Given the description of an element on the screen output the (x, y) to click on. 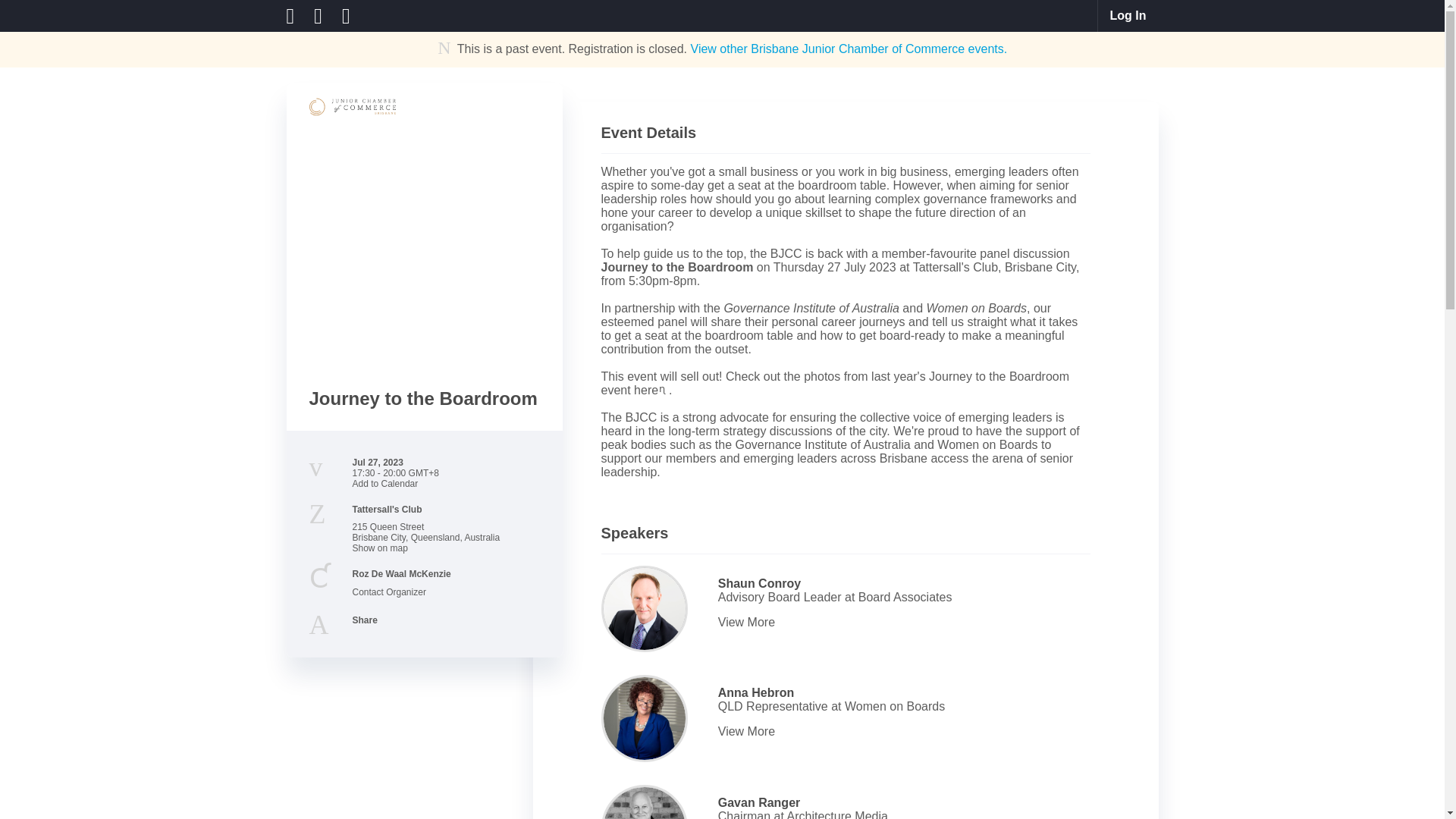
Open in new tab (663, 388)
Show on map (379, 547)
View other Brisbane Junior Chamber of Commerce events. (848, 48)
Sign in (1127, 15)
Contact Organizer (388, 592)
Log In (1127, 15)
Add to Calendar (384, 483)
